Given the description of an element on the screen output the (x, y) to click on. 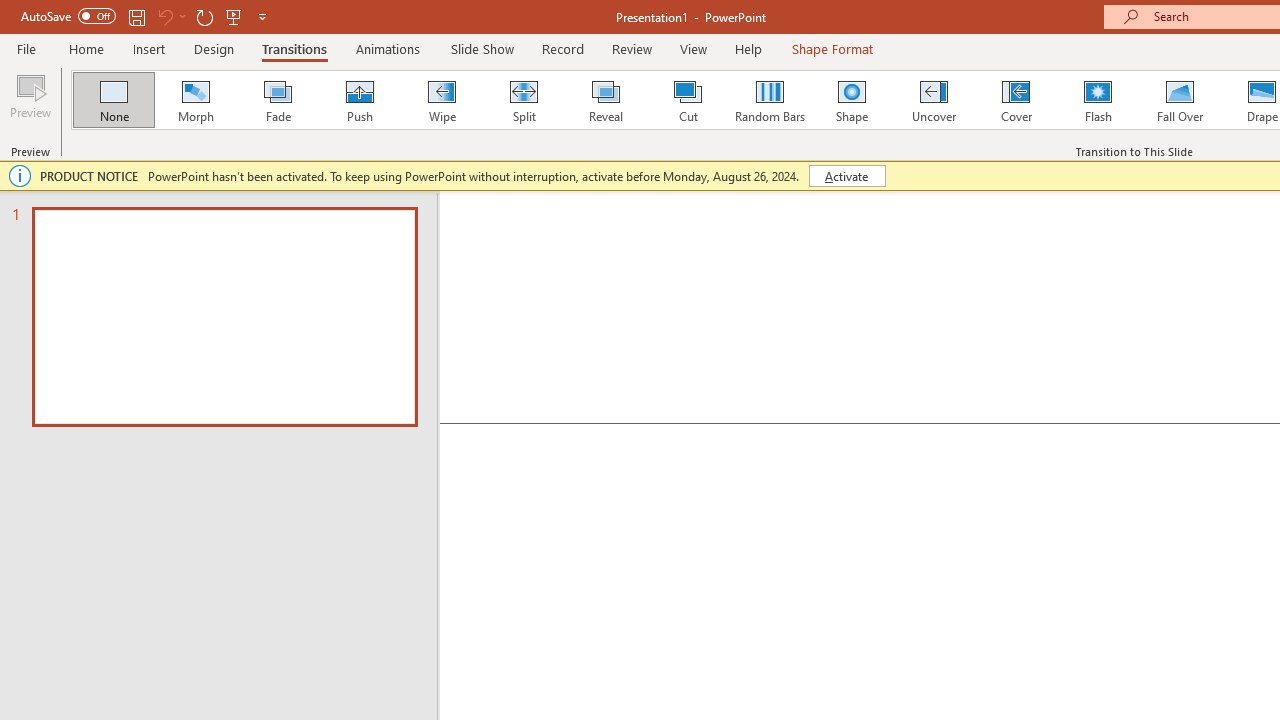
Push (359, 100)
Wipe (441, 100)
Random Bars (770, 100)
Activate (846, 175)
